Given the description of an element on the screen output the (x, y) to click on. 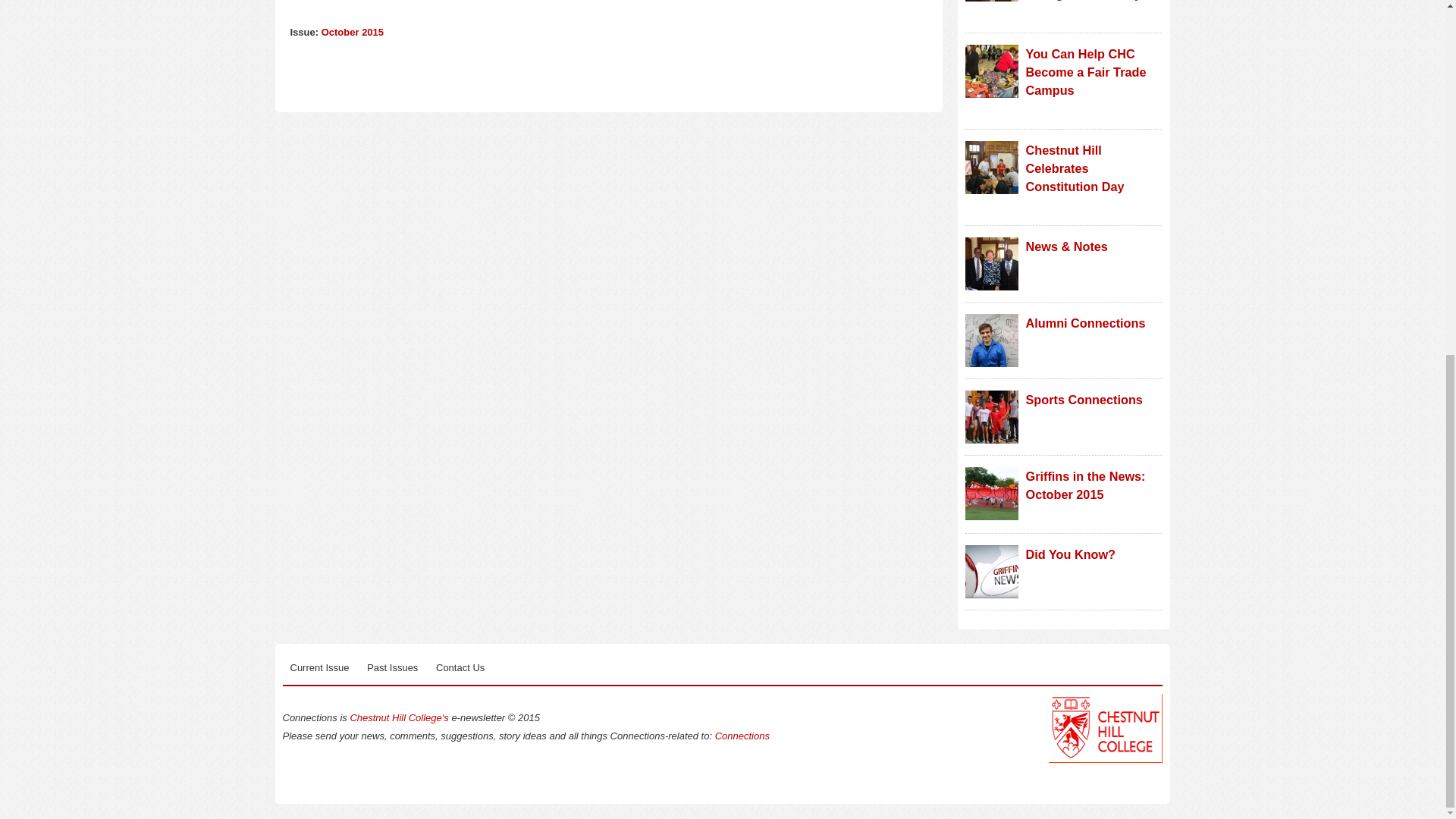
Contact Us (460, 668)
You Can Help CHC Become a Fair Trade Campus (1085, 71)
Chestnut Hill Celebrates Constitution Day (1074, 168)
Past Issues of e-Newsletter (392, 668)
October 2015 (352, 31)
